Given the description of an element on the screen output the (x, y) to click on. 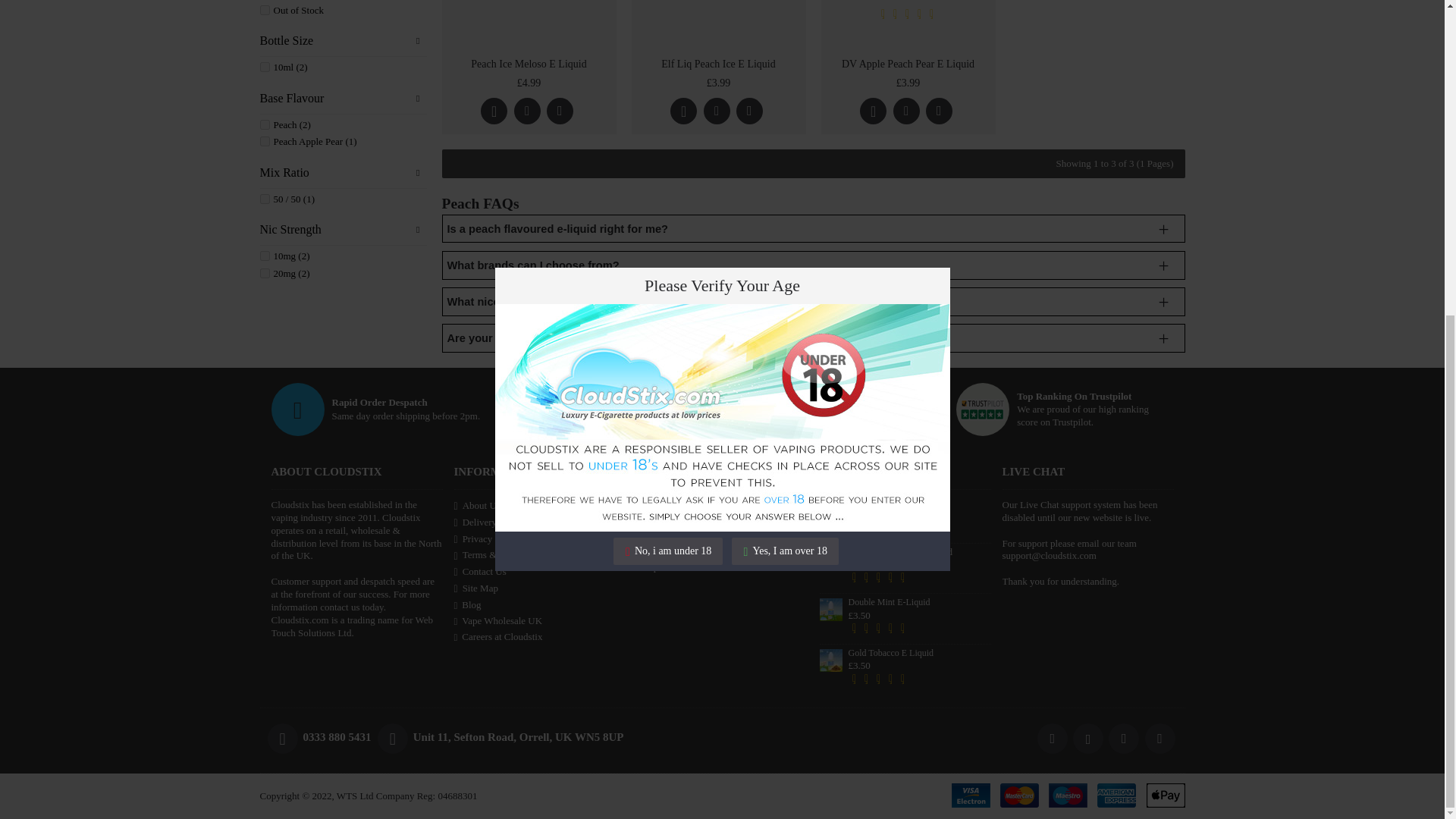
2129 (264, 273)
DV Apple Peach Pear E Liquid (907, 25)
Menthol E Liquid (829, 508)
No, i am under 18 (667, 44)
Gold Tobacco E Liquid (829, 660)
Tobacco Flavoured E Liquid (829, 558)
Elf Liq Peach Ice E Liquid (718, 25)
Double Mint E-Liquid (829, 609)
Peach (264, 124)
10ml (264, 67)
2128 (264, 255)
Peach Ice Meloso E Liquid (528, 25)
0 (264, 9)
Yes, I am over 18 (785, 44)
